Given the description of an element on the screen output the (x, y) to click on. 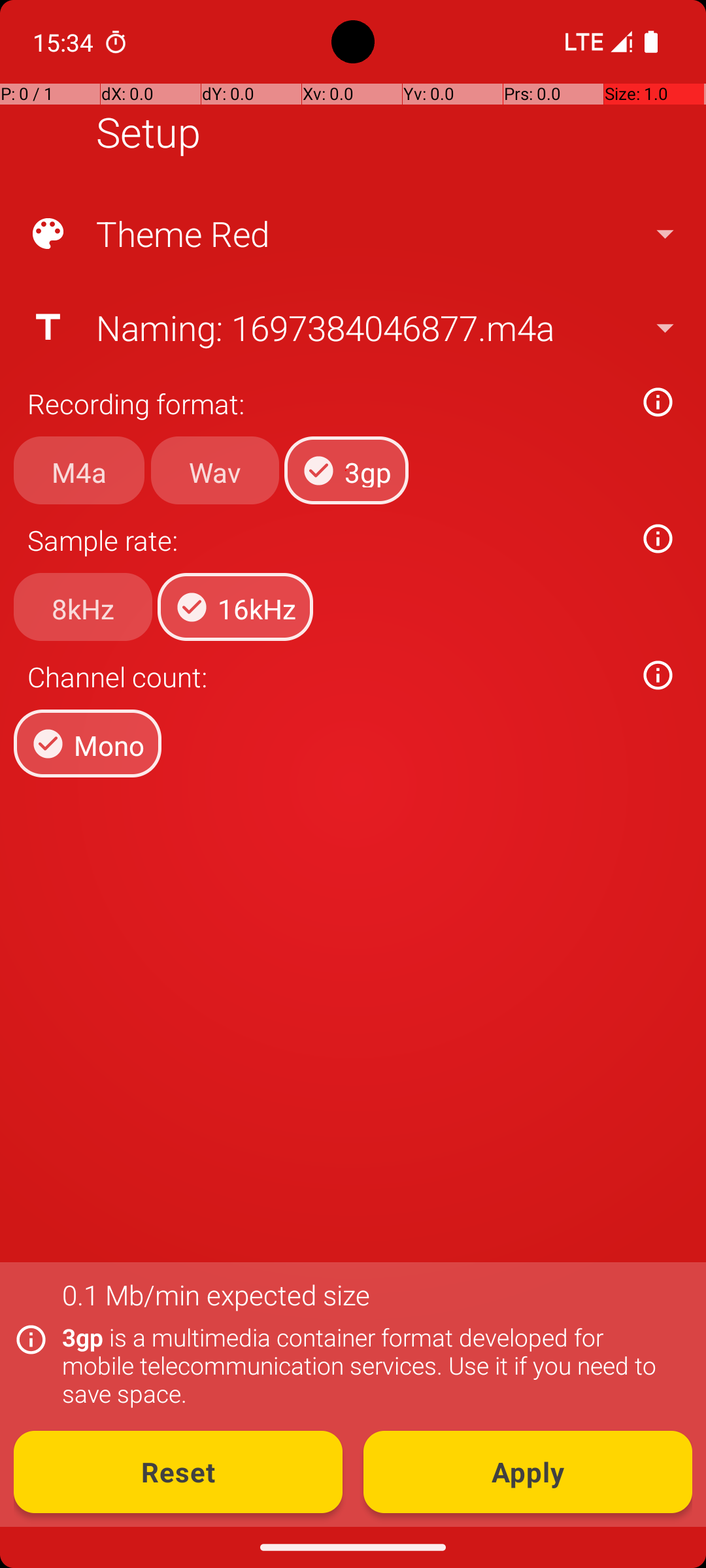
0.1 Mb/min expected size Element type: android.widget.TextView (215, 1294)
3gp is a multimedia container format developed for mobile telecommunication services. Use it if you need to save space. Element type: android.widget.TextView (370, 1364)
Theme Red Element type: android.widget.TextView (352, 233)
Naming: 1697384046877.m4a Element type: android.widget.TextView (352, 327)
Clock notification:  Element type: android.widget.ImageView (115, 41)
